Given the description of an element on the screen output the (x, y) to click on. 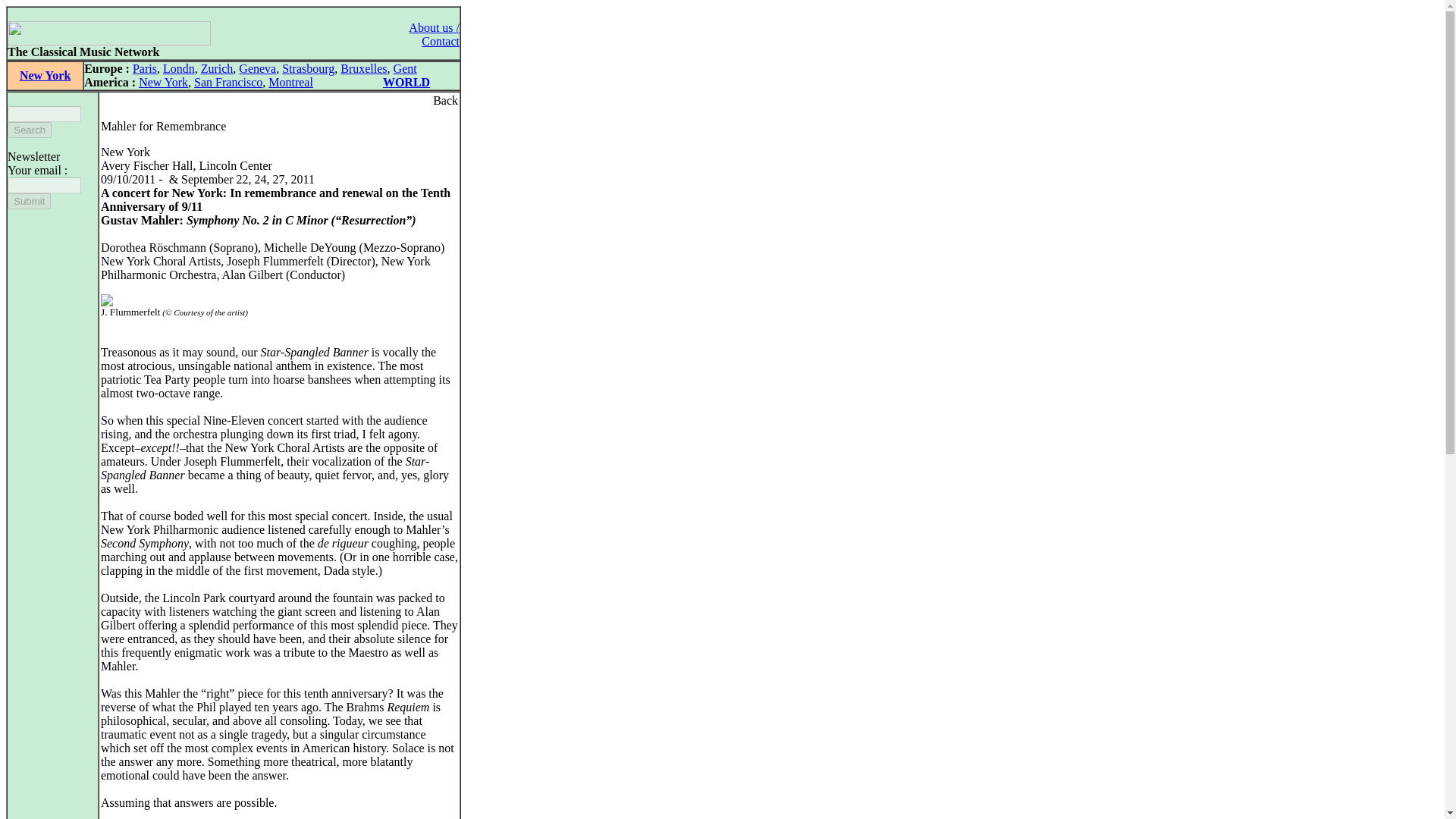
New York (44, 74)
Zurich (216, 68)
Search (28, 130)
Search (28, 130)
Bruxelles (363, 68)
Submit (28, 201)
Paris (144, 68)
New York (162, 82)
Submit (28, 201)
Strasbourg (308, 68)
